Given the description of an element on the screen output the (x, y) to click on. 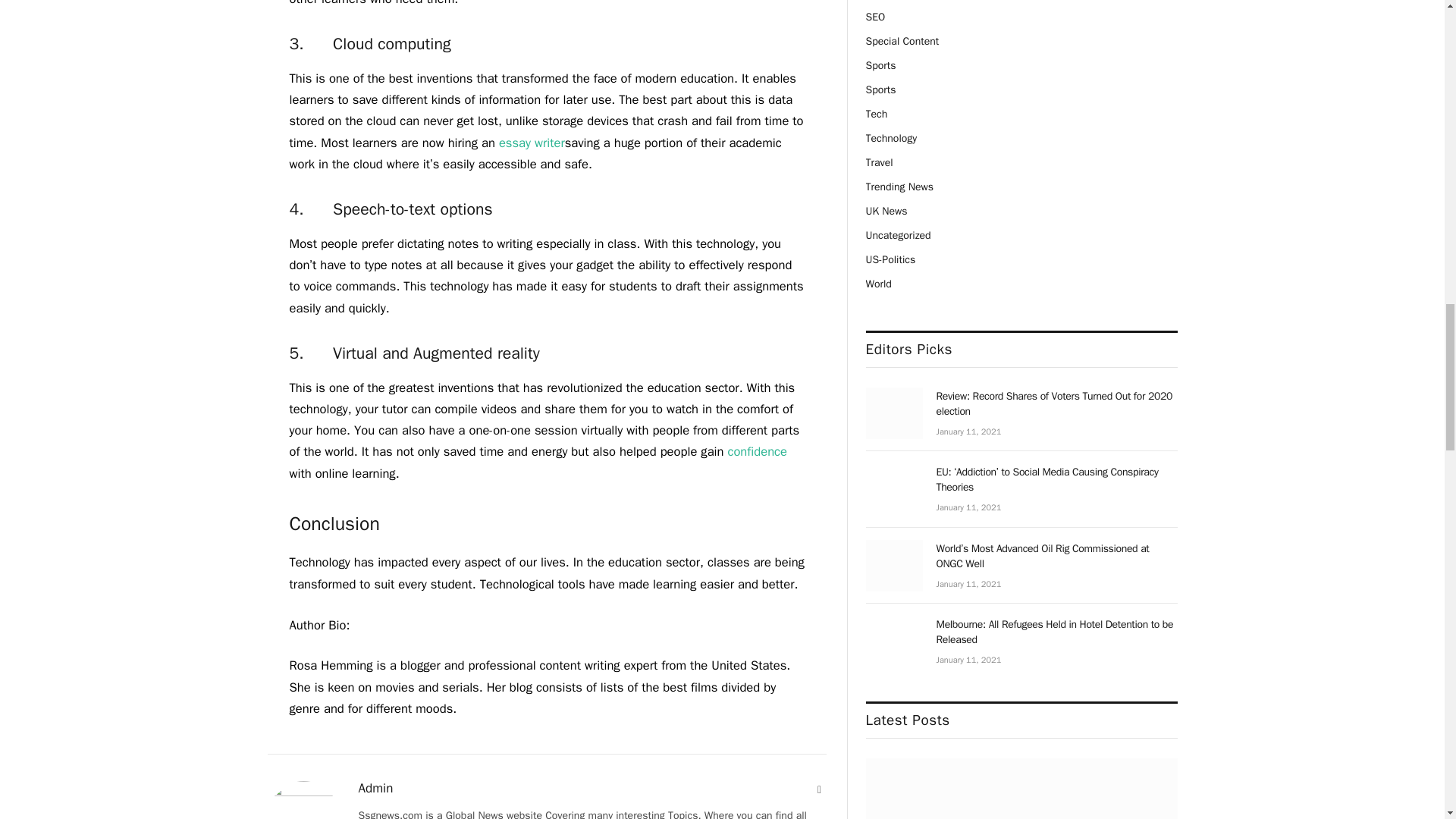
Website (818, 789)
Posts by Admin (375, 788)
